Given the description of an element on the screen output the (x, y) to click on. 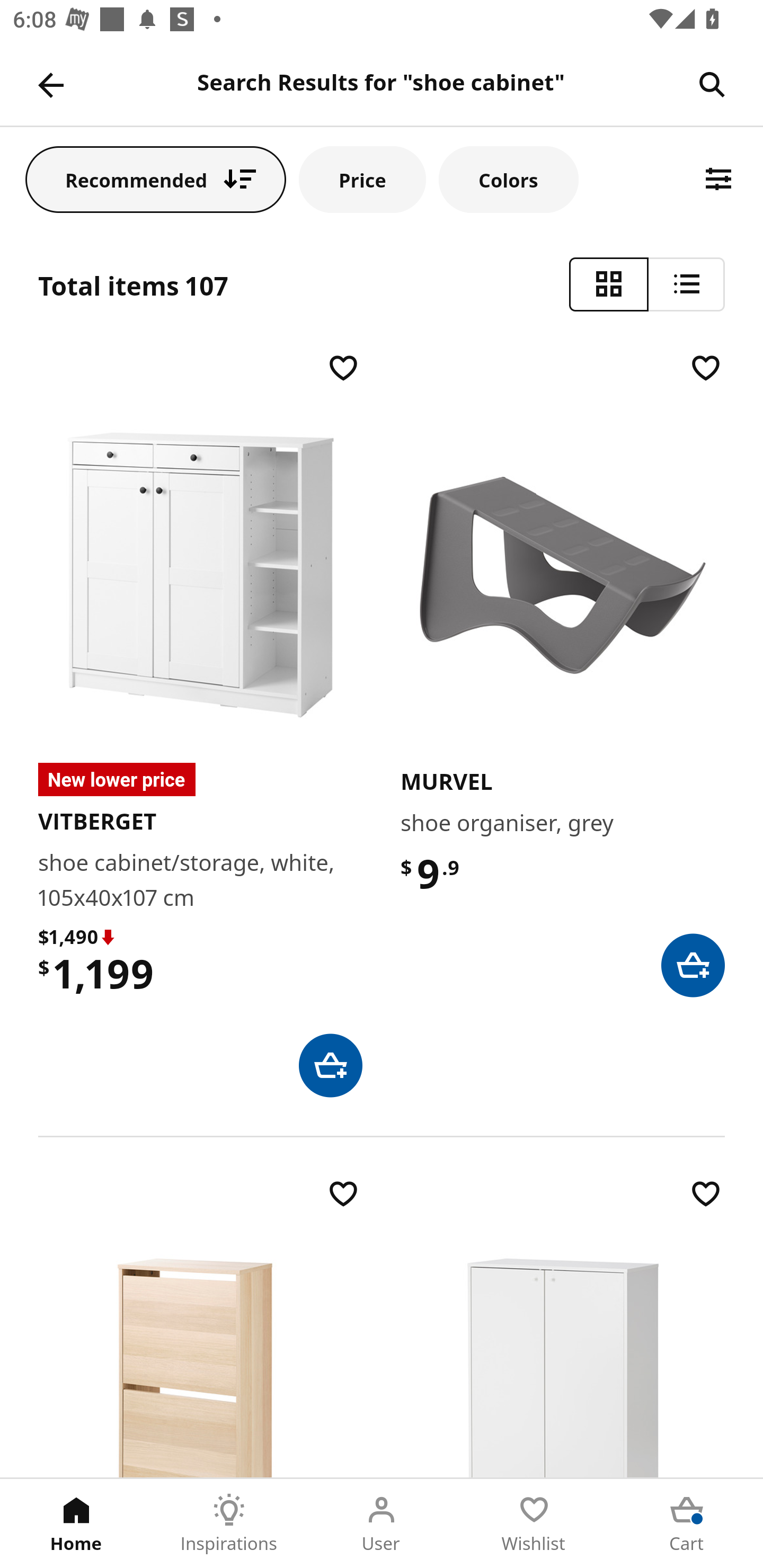
Recommended (155, 179)
Price (362, 179)
Colors (508, 179)
​M​U​R​V​E​L​
shoe organiser, grey
$
9
.9 (562, 673)
Home
Tab 1 of 5 (76, 1522)
Inspirations
Tab 2 of 5 (228, 1522)
User
Tab 3 of 5 (381, 1522)
Wishlist
Tab 4 of 5 (533, 1522)
Cart
Tab 5 of 5 (686, 1522)
